Given the description of an element on the screen output the (x, y) to click on. 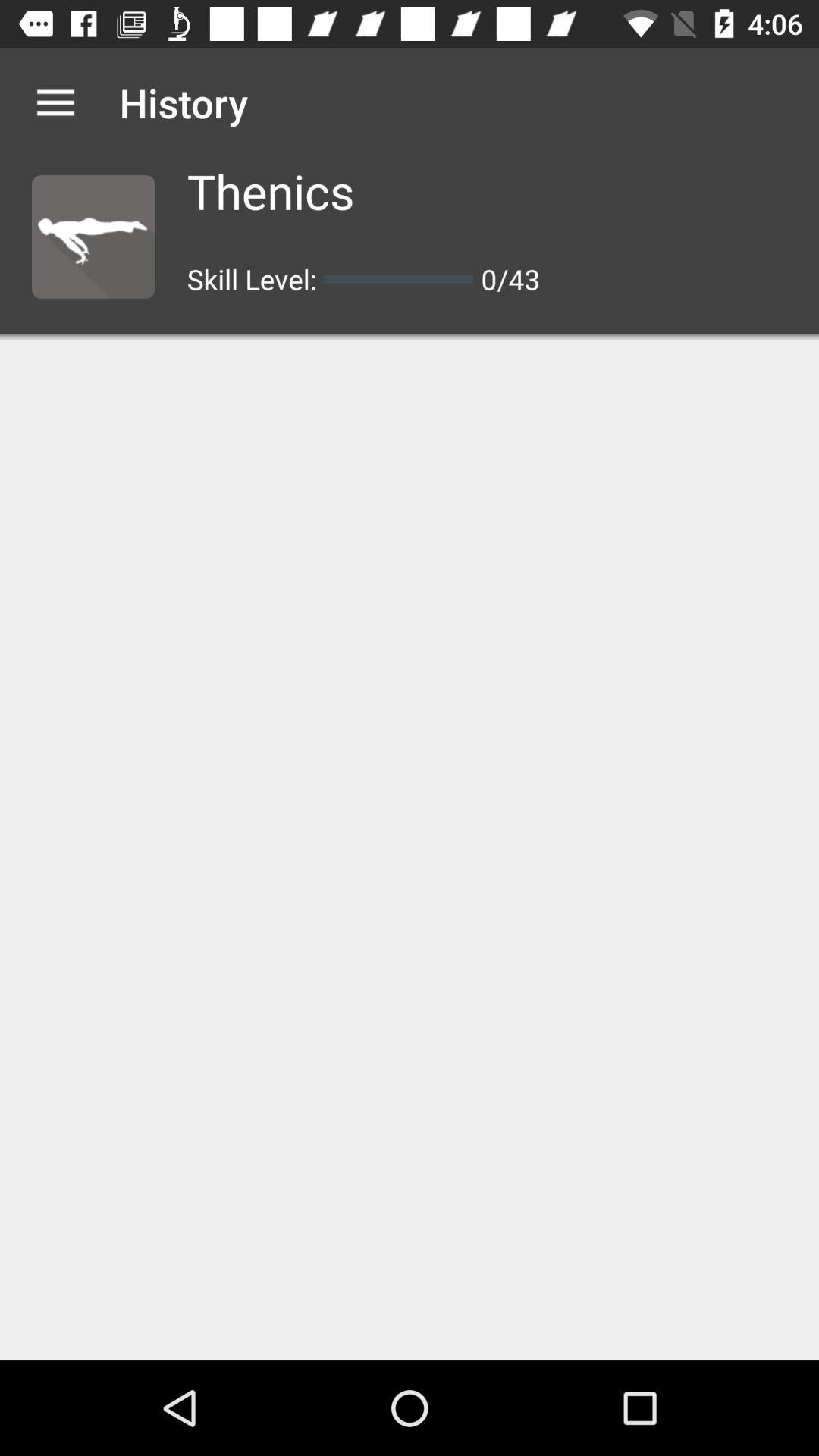
turn on app next to the history app (55, 102)
